Given the description of an element on the screen output the (x, y) to click on. 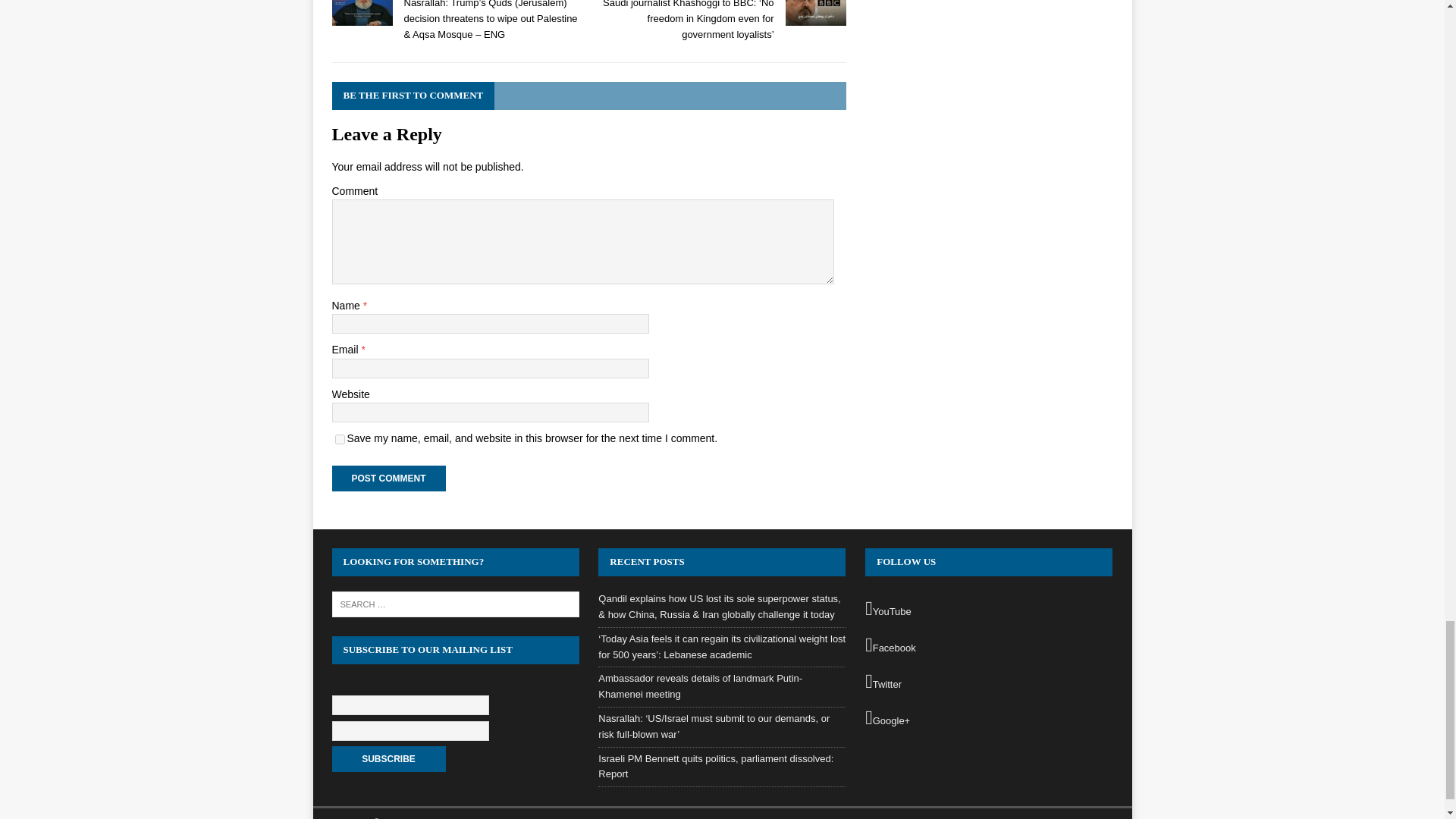
Visit Middle East Observer on Twitter (988, 681)
Subscribe (388, 759)
yes (339, 439)
Post Comment (388, 478)
Visit Middle East Observer on Facebook (988, 645)
Visit Middle East Observer on YouTube (988, 608)
